Given the description of an element on the screen output the (x, y) to click on. 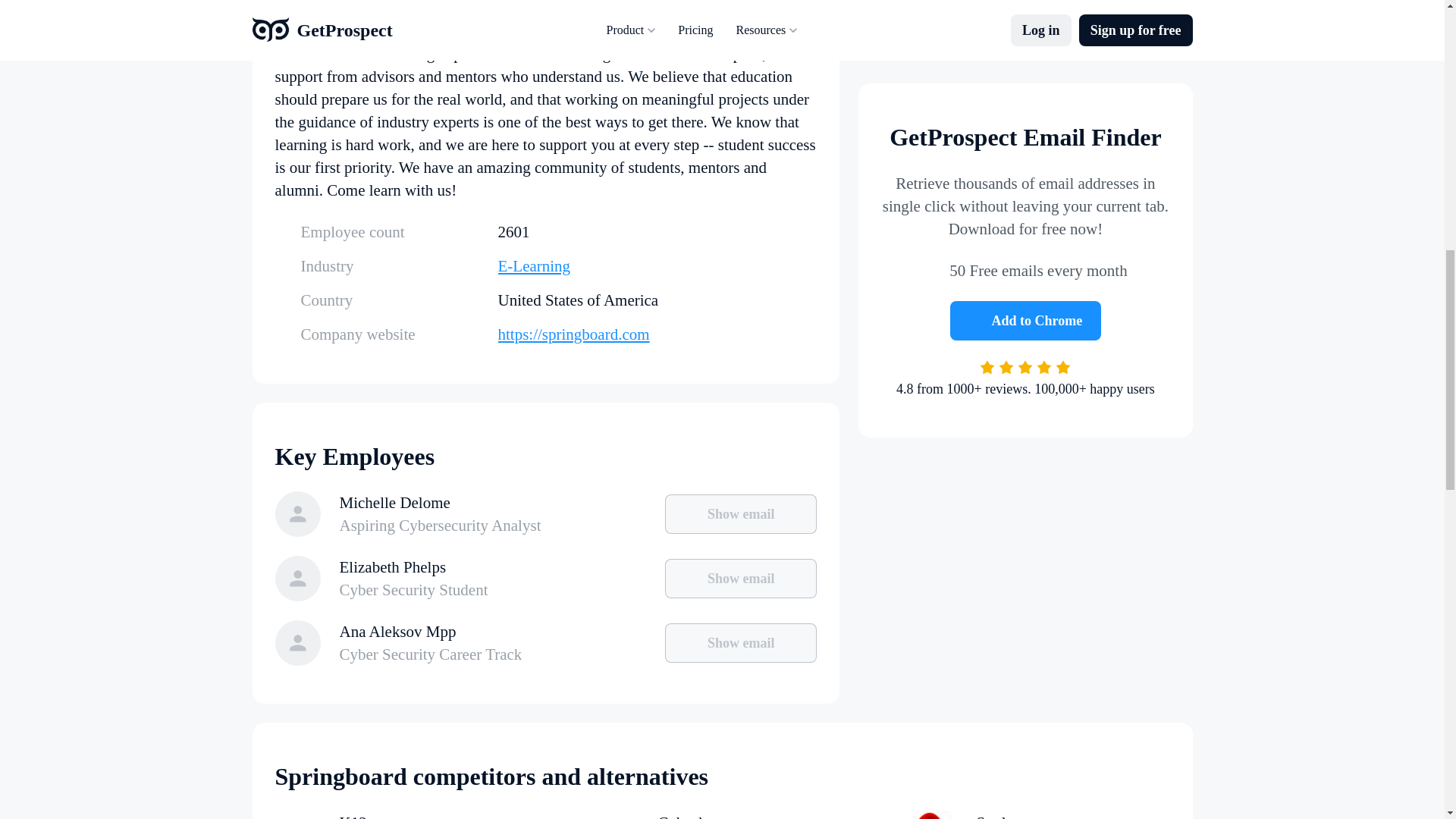
Add to Chrome (1026, 99)
Show email (403, 815)
Show email (721, 815)
E-Learning (740, 642)
Show email (740, 578)
